Given the description of an element on the screen output the (x, y) to click on. 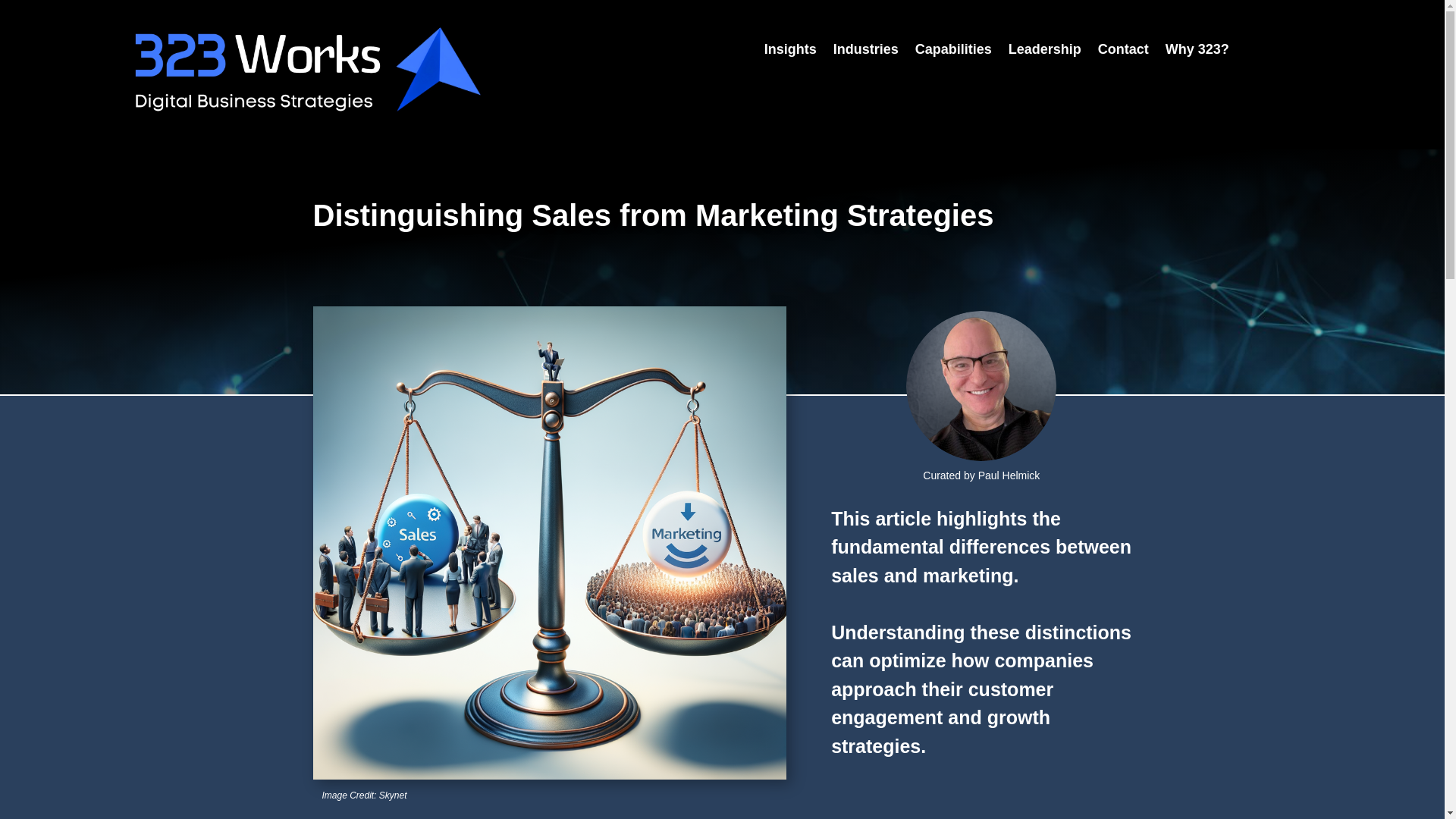
Capabilities (953, 52)
Leadership (1045, 52)
Industries (865, 52)
323Works-logo (309, 69)
Insights (790, 52)
Contact (1122, 52)
paulhelmick-profile-grey (981, 386)
Why 323? (1197, 52)
